Given the description of an element on the screen output the (x, y) to click on. 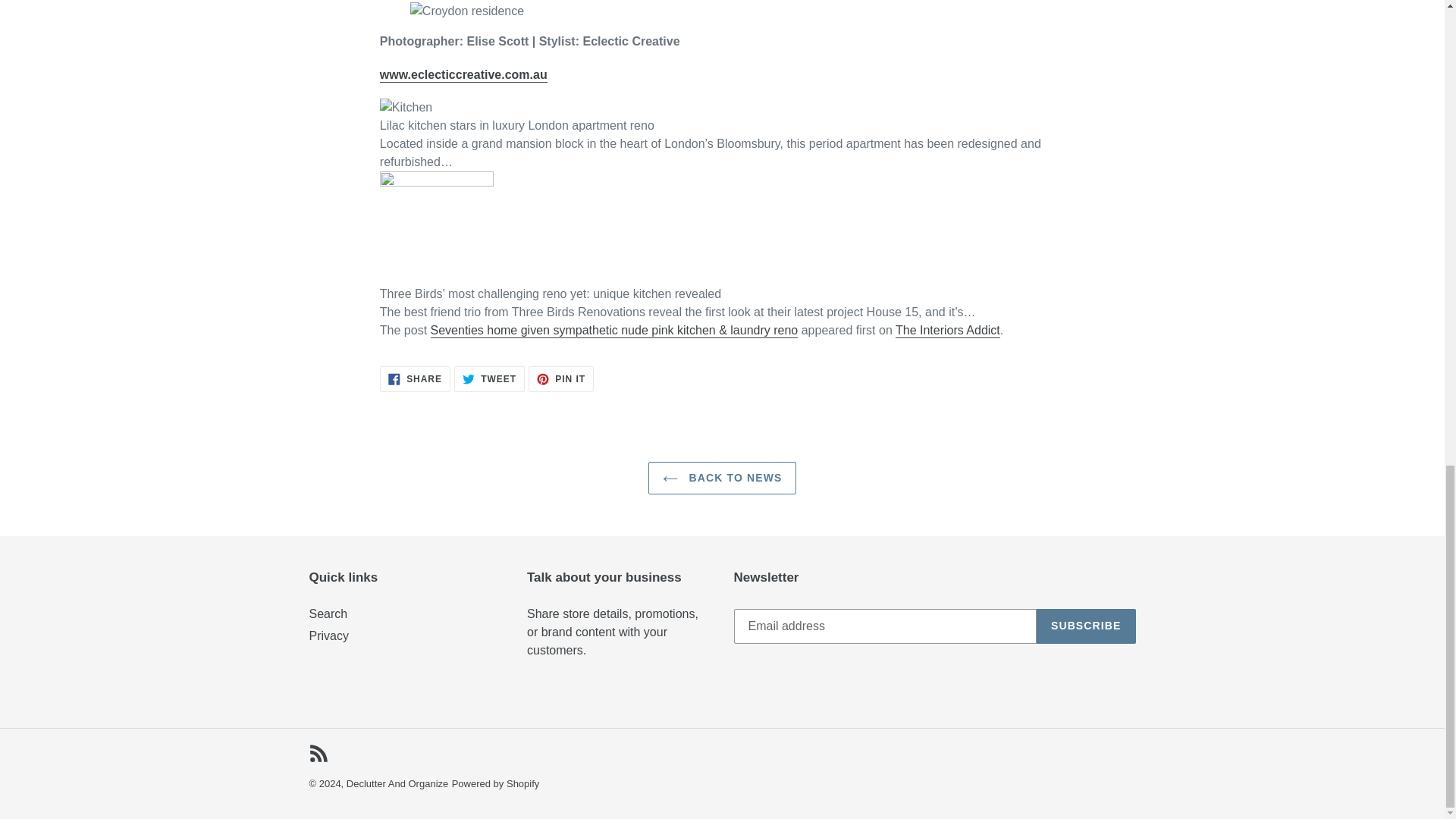
Privacy (328, 635)
Declutter And Organize (397, 783)
RSS (561, 379)
The Interiors Addict (318, 752)
Powered by Shopify (947, 330)
BACK TO NEWS (495, 783)
SUBSCRIBE (721, 477)
Search (1085, 626)
